Given the description of an element on the screen output the (x, y) to click on. 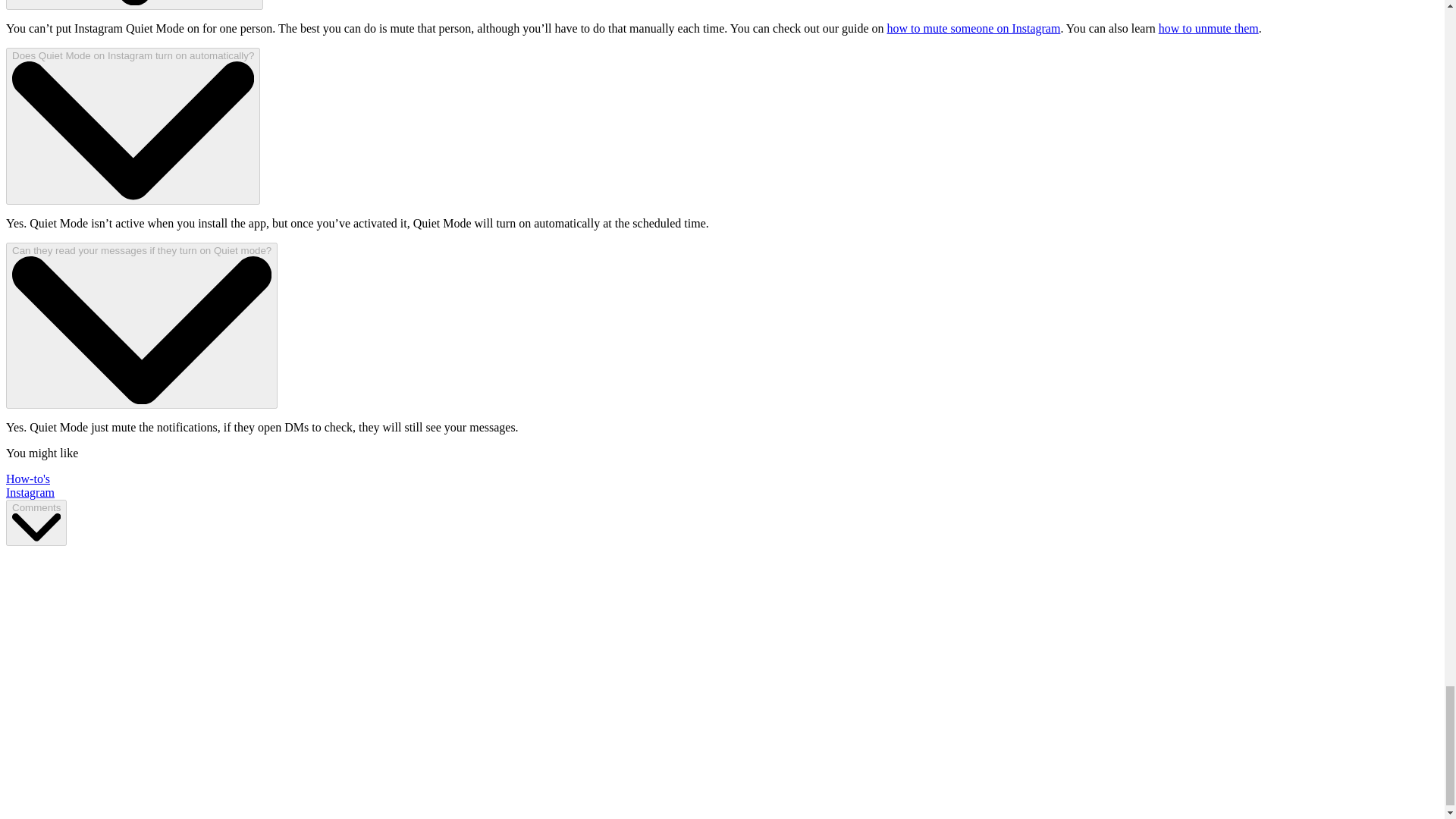
Can you put Instagram Quiet Mode on for one person? (134, 5)
Does Quiet Mode on Instagram turn on automatically? (132, 125)
Instagram (30, 492)
how to mute someone on Instagram (973, 28)
How-to's (27, 478)
Comments (35, 522)
how to unmute them (1208, 28)
Can they read your messages if they turn on Quiet mode? (141, 325)
